Given the description of an element on the screen output the (x, y) to click on. 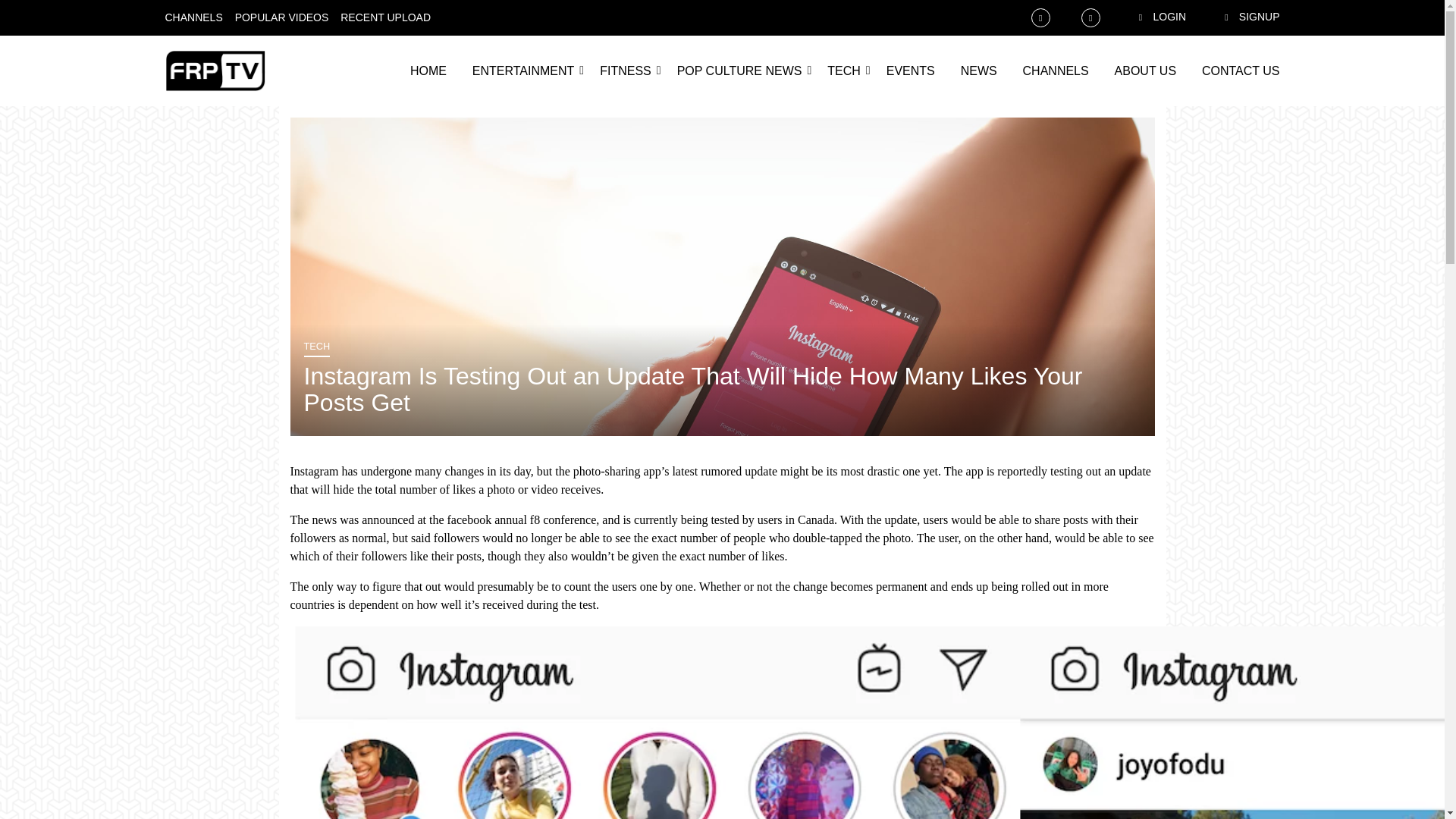
ENTERTAINMENT (523, 70)
RECENT UPLOAD (385, 17)
POPULAR VIDEOS (281, 17)
CHANNELS (193, 17)
CHANNELS (1056, 70)
CONTACT US (1240, 70)
SIGNUP (1238, 16)
LOGIN (1149, 16)
ABOUT US (1145, 70)
POP CULTURE NEWS (739, 70)
